Given the description of an element on the screen output the (x, y) to click on. 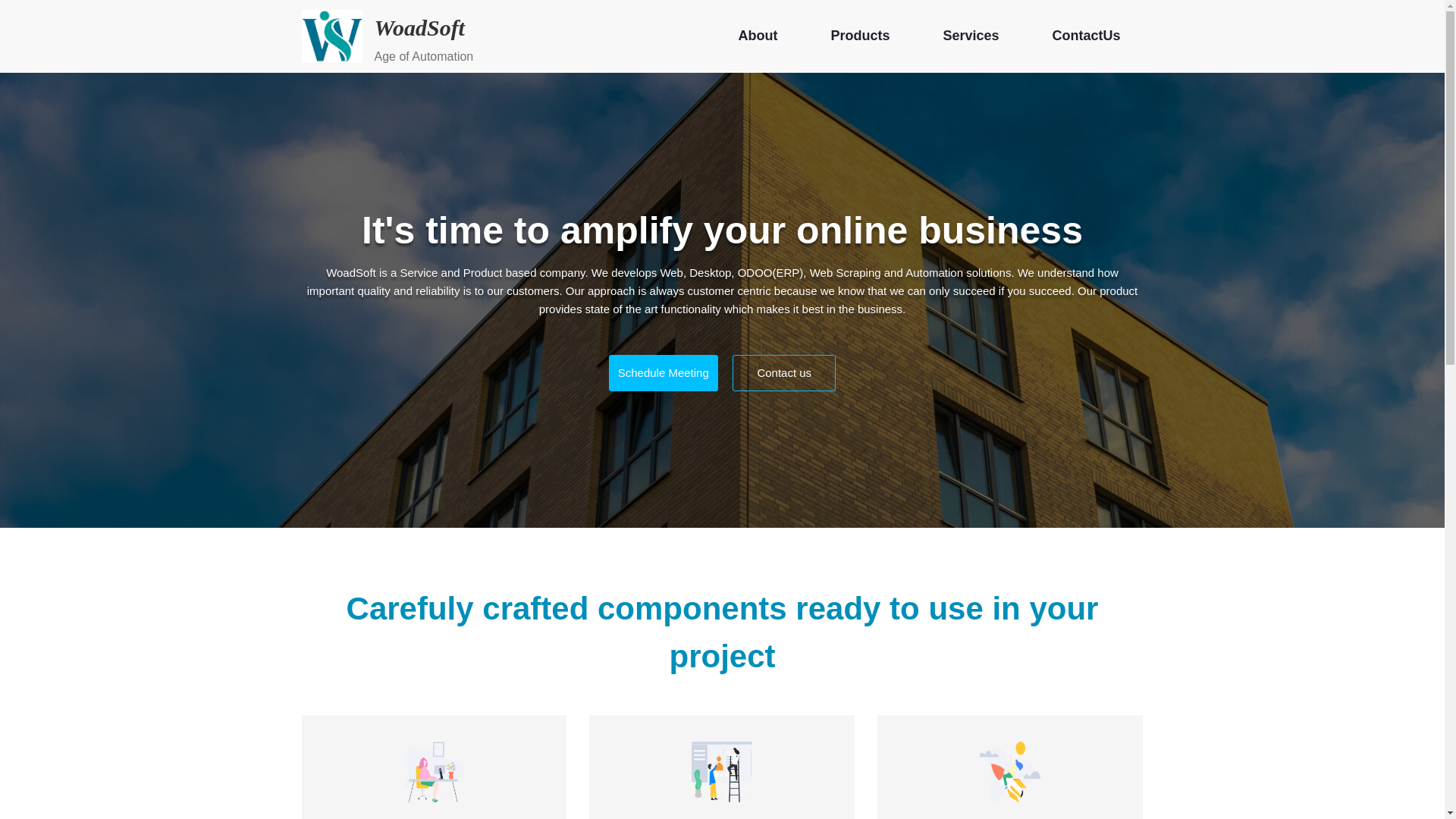
Schedule Meeting (662, 372)
ContactUs (1085, 36)
Services (970, 36)
WoadSoft (419, 27)
Products (859, 36)
Get more results (722, 818)
Contact us (783, 372)
